Given the description of an element on the screen output the (x, y) to click on. 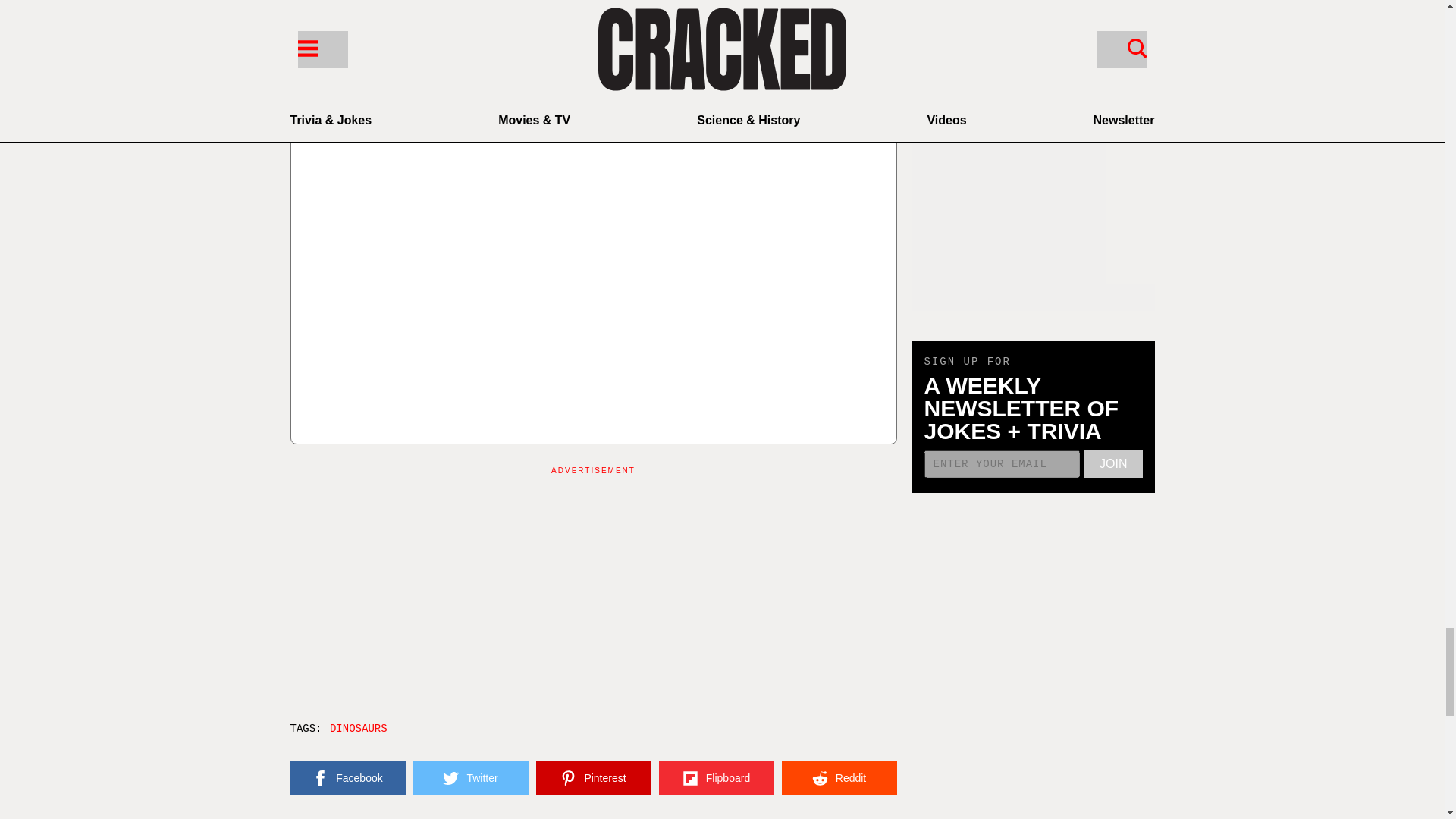
Twitter (469, 777)
Pinterest (592, 777)
DINOSAURS (355, 728)
Facebook (346, 777)
Flipboard (715, 777)
